Given the description of an element on the screen output the (x, y) to click on. 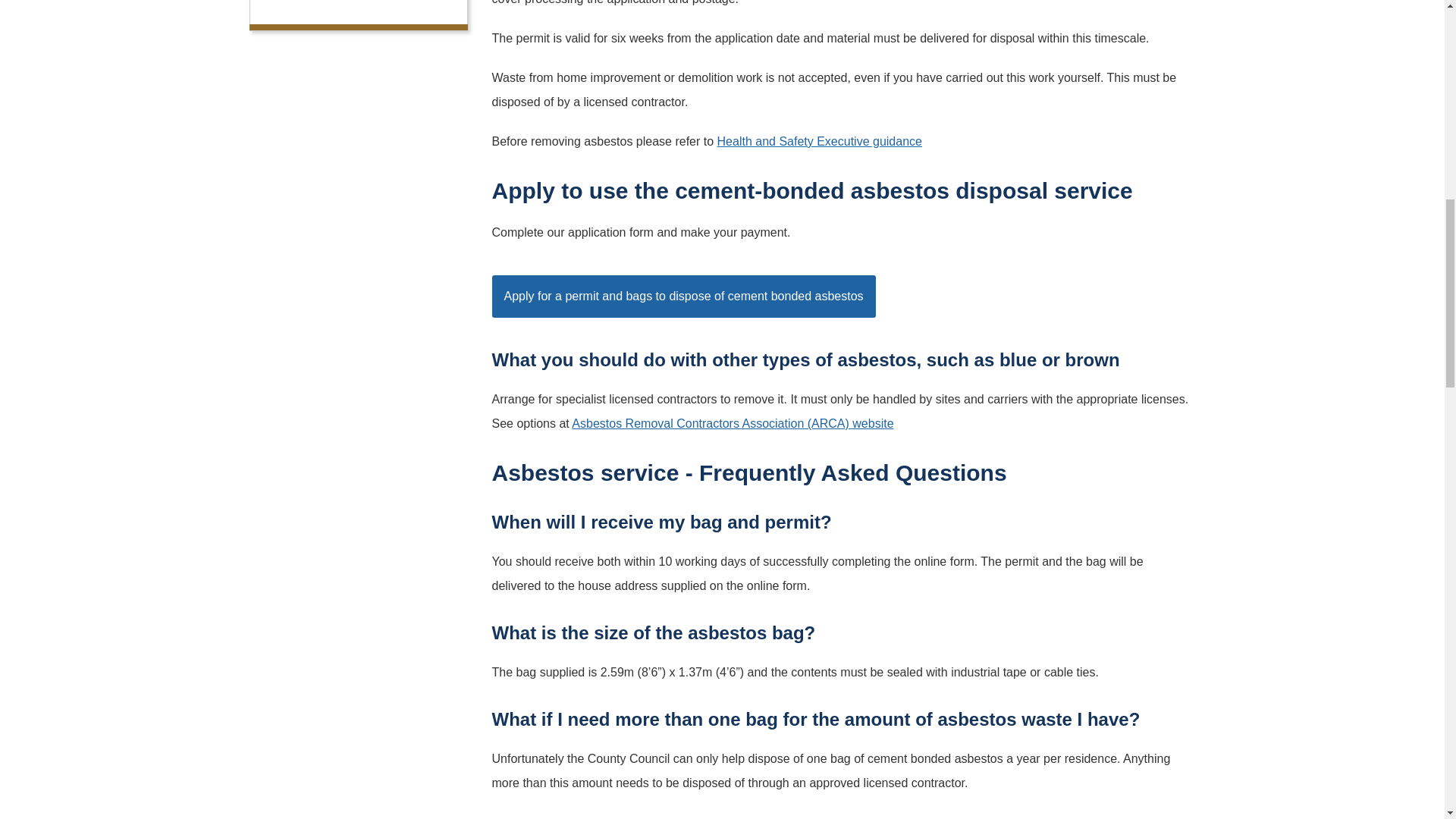
Health and Safety Executive guidance (819, 141)
